Given the description of an element on the screen output the (x, y) to click on. 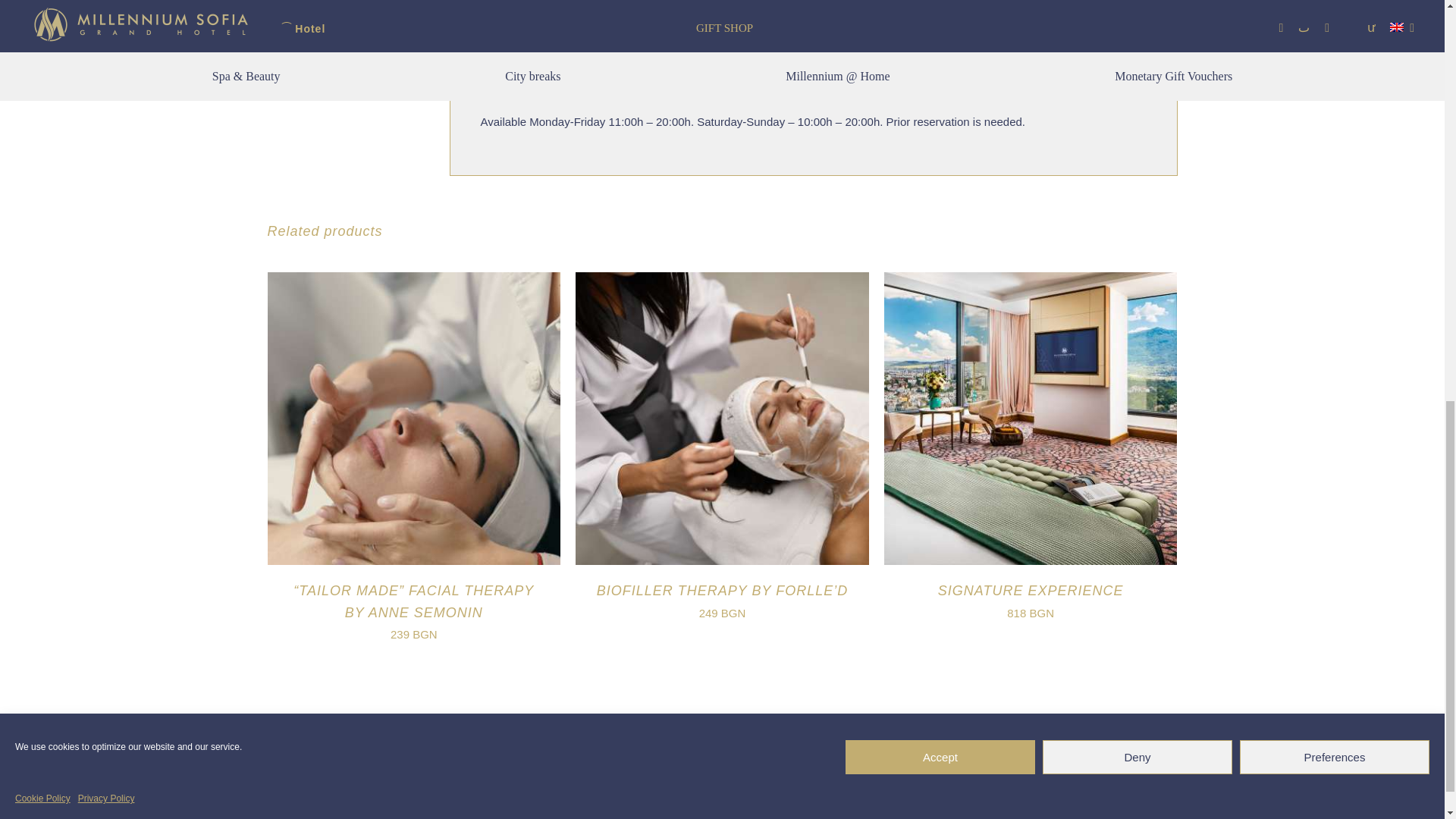
Privacy Policy (106, 389)
Preferences (1334, 347)
Deny (1136, 347)
Accept (940, 347)
Cookie Policy (41, 389)
